Given the description of an element on the screen output the (x, y) to click on. 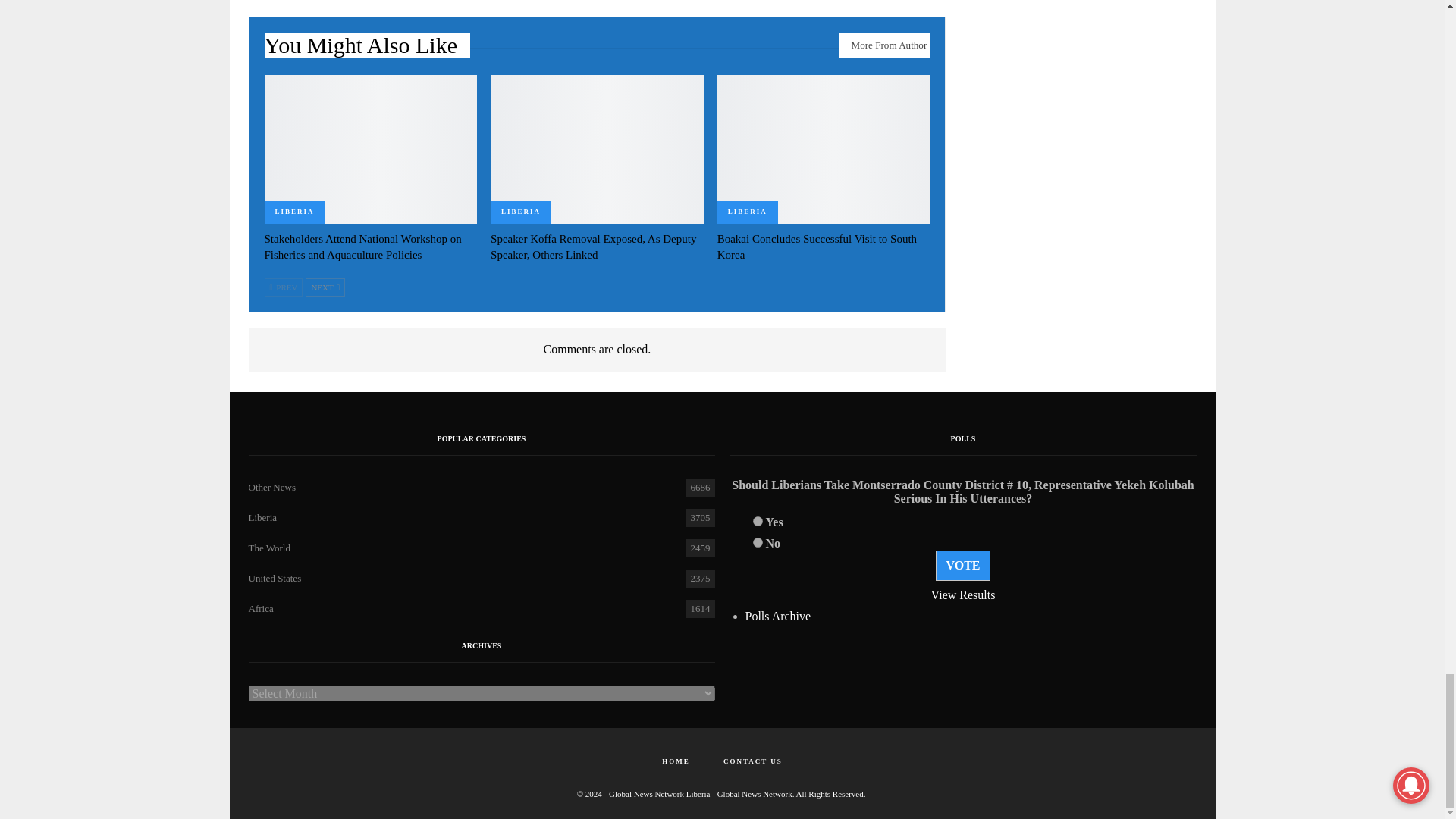
   Vote    (963, 565)
View Results Of This Poll (963, 594)
376 (756, 521)
Next (325, 287)
More From Author (884, 44)
Boakai Concludes Successful Visit to South Korea (817, 246)
Boakai Concludes Successful Visit to South Korea (823, 149)
LIBERIA (520, 211)
LIBERIA (293, 211)
Previous (282, 287)
377 (756, 542)
You Might Also Like (366, 48)
